Given the description of an element on the screen output the (x, y) to click on. 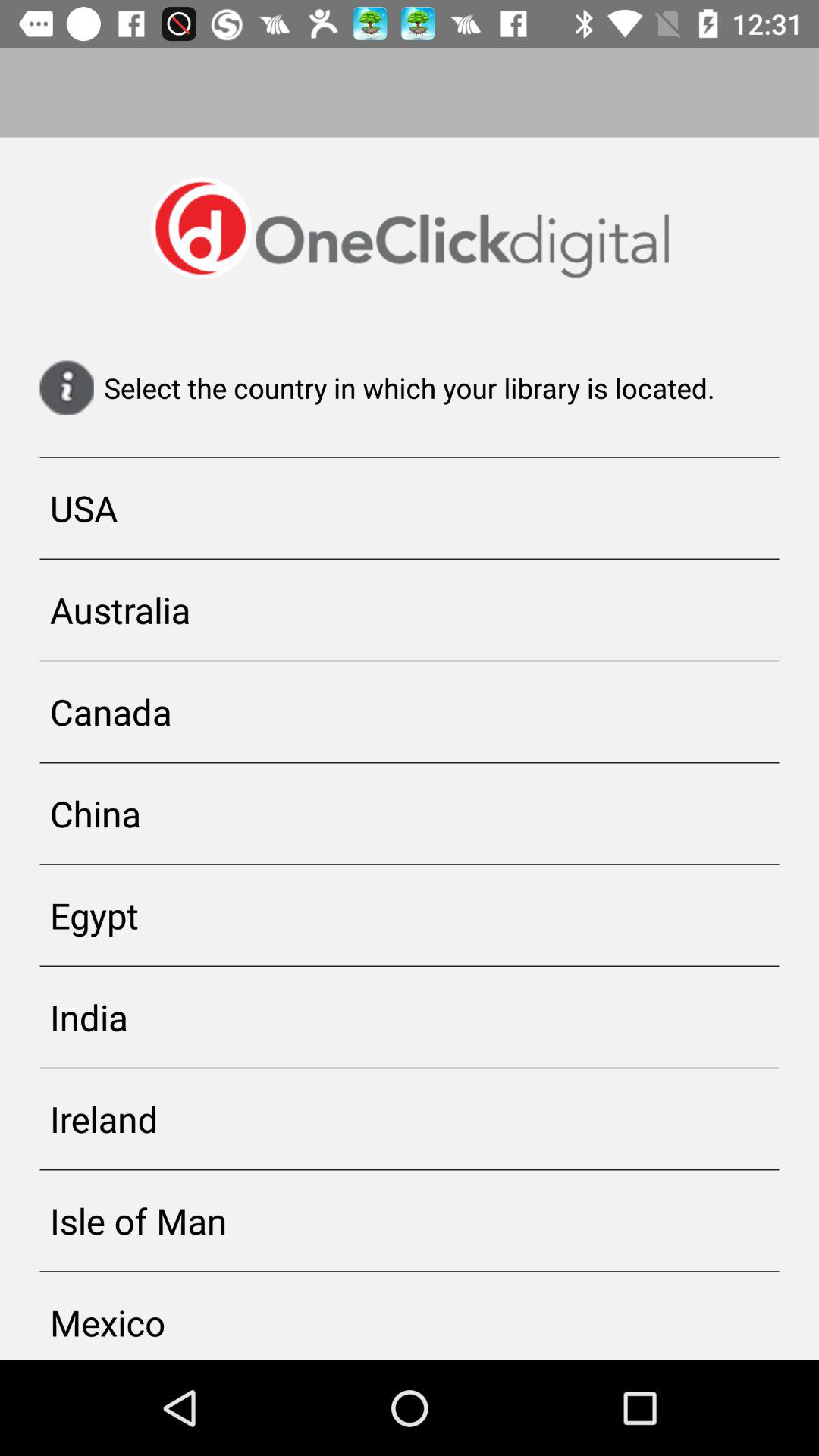
scroll to select the country icon (409, 387)
